Given the description of an element on the screen output the (x, y) to click on. 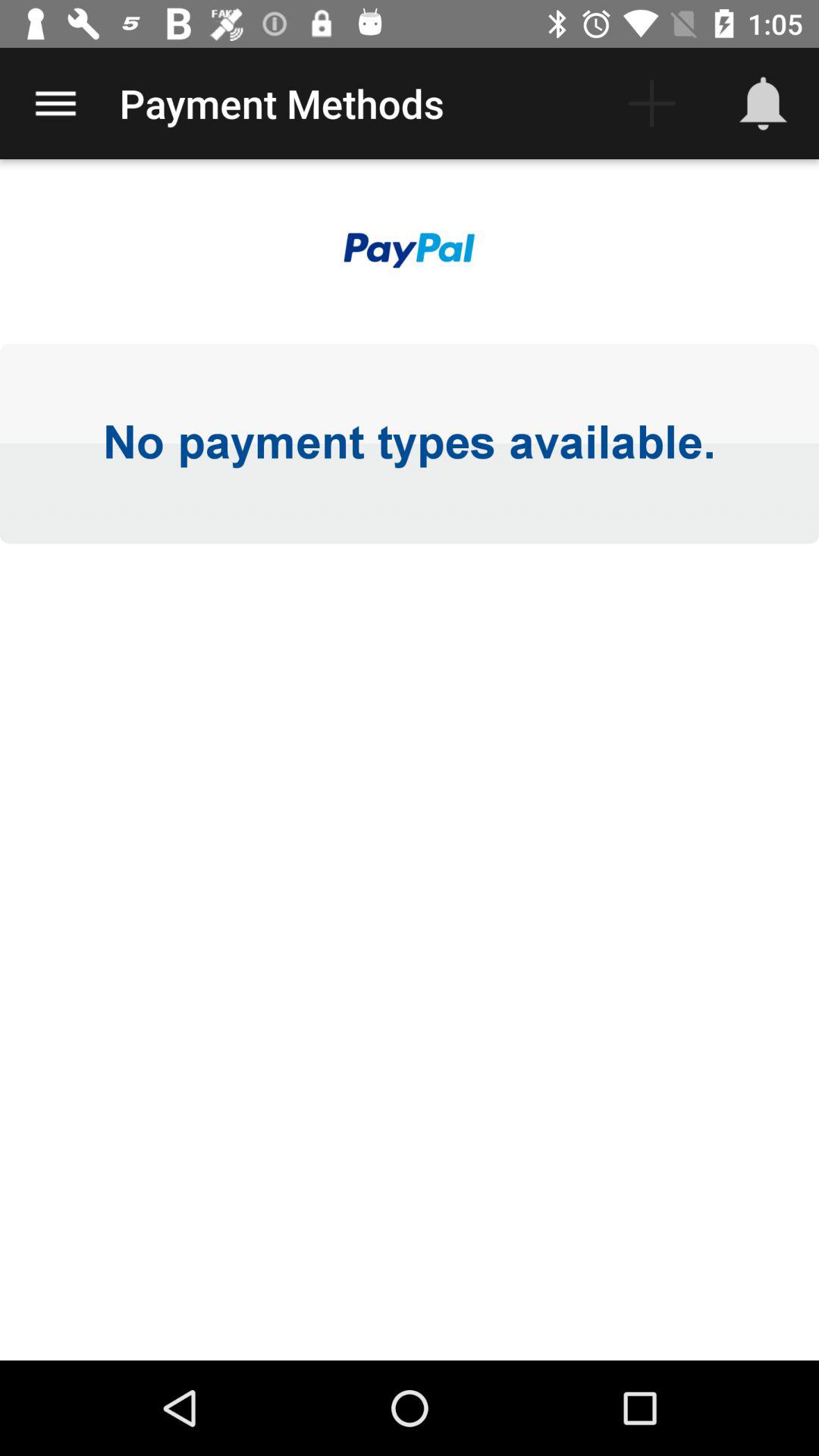
tap the icon next to the payment methods icon (651, 103)
